Given the description of an element on the screen output the (x, y) to click on. 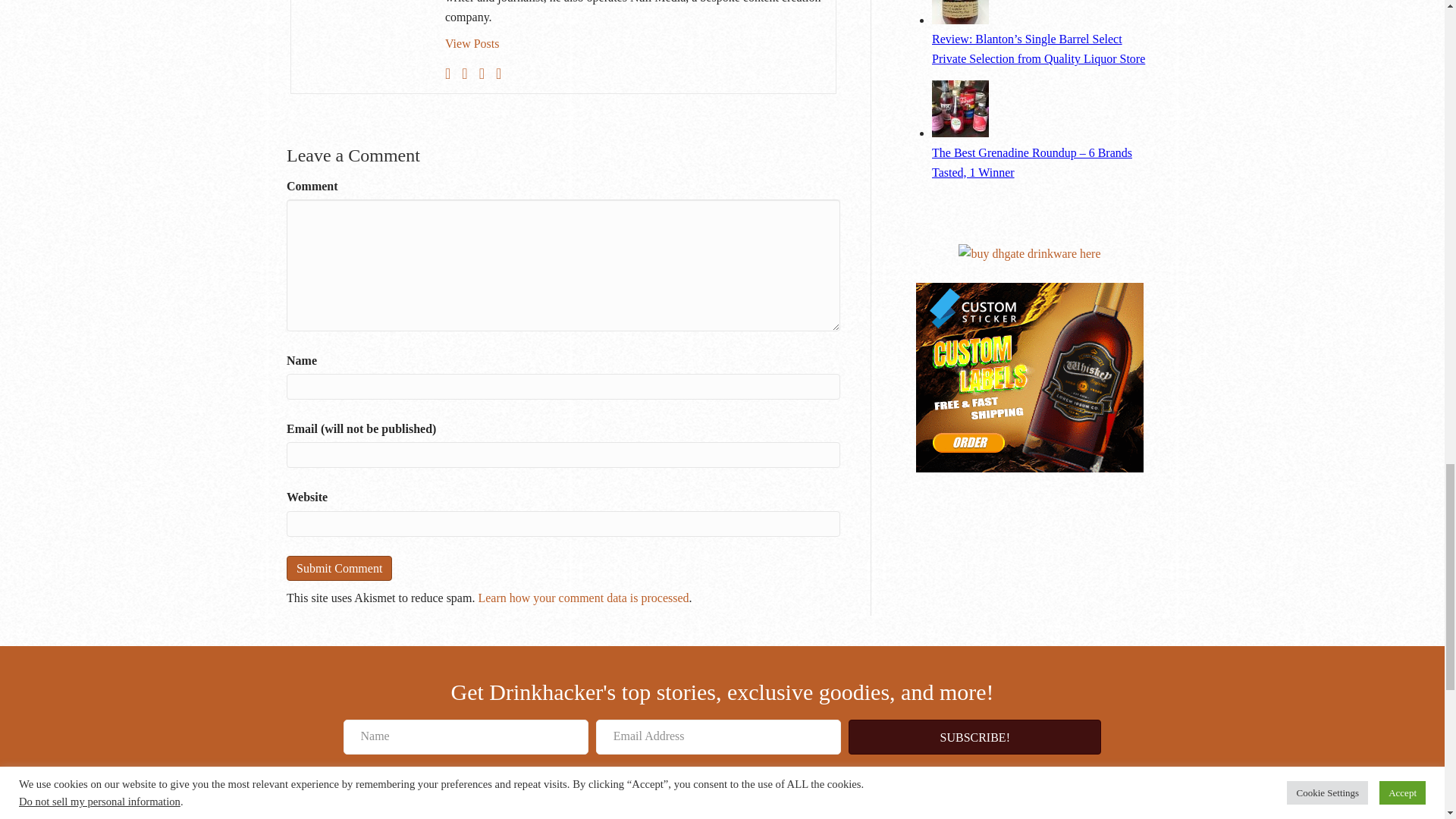
Submit Comment (338, 568)
